Given the description of an element on the screen output the (x, y) to click on. 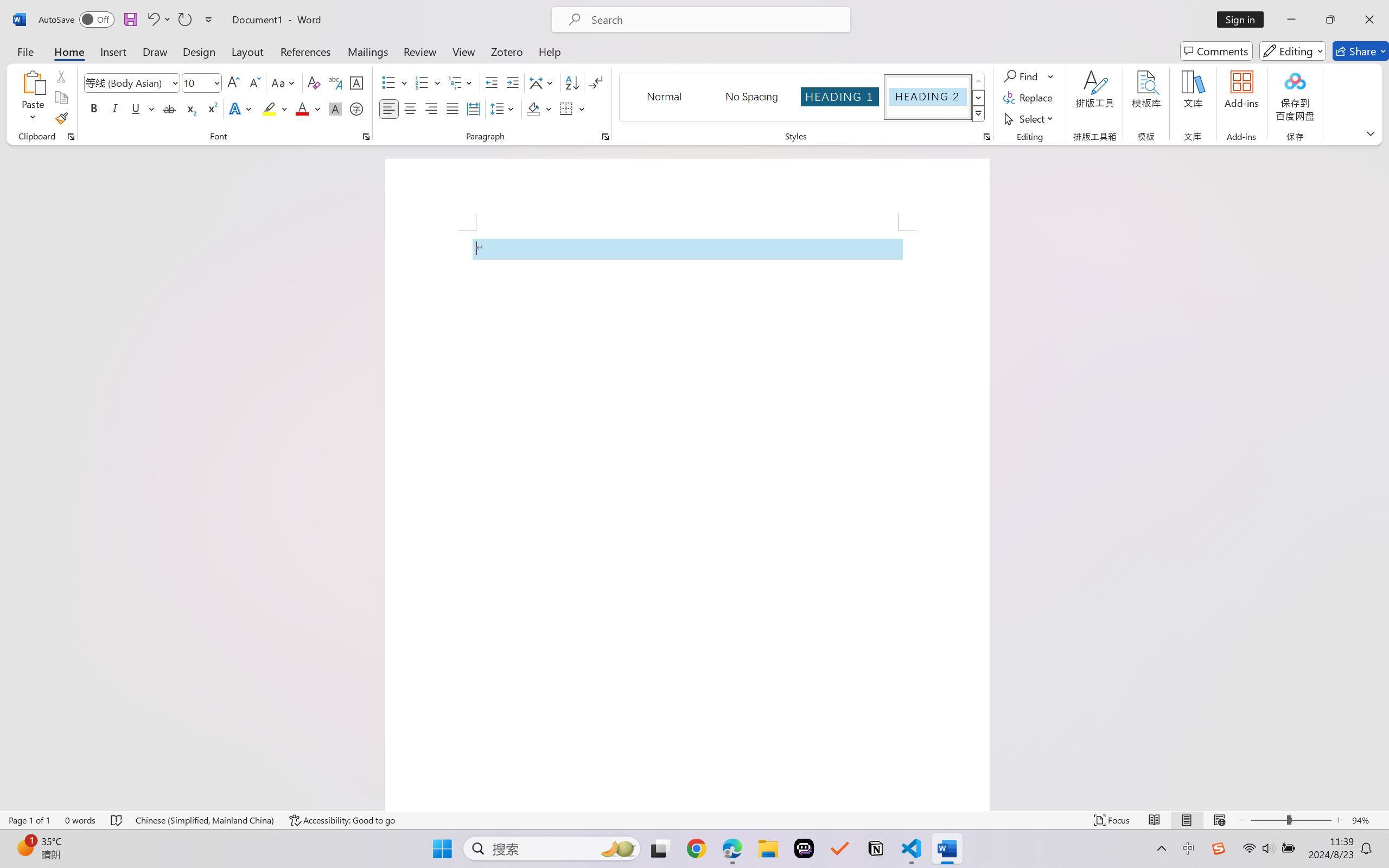
Language Chinese (Simplified, Mainland China) (205, 819)
Undo Apply Quick Style (152, 19)
